Given the description of an element on the screen output the (x, y) to click on. 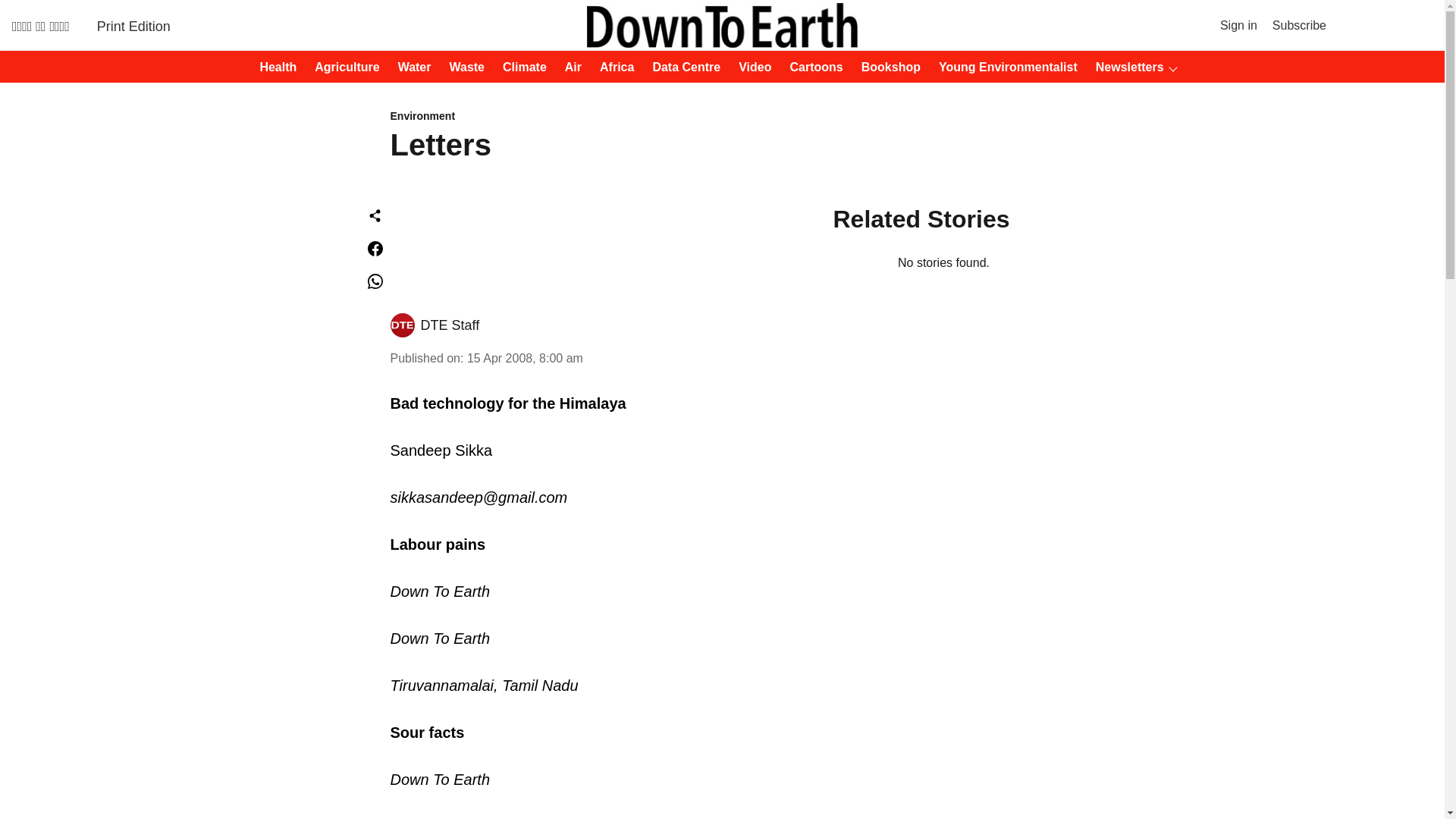
Africa (612, 67)
Agriculture (341, 67)
Cartoons (811, 67)
Waste (461, 67)
Water (409, 67)
Data Centre (681, 67)
Environment (611, 116)
Print Edition (133, 26)
Bookshop (885, 67)
Young Environmentalist (1003, 67)
Climate (520, 67)
2008-04-15 00:00 (525, 358)
Health (273, 67)
DTE Staff (449, 324)
Video (750, 67)
